Given the description of an element on the screen output the (x, y) to click on. 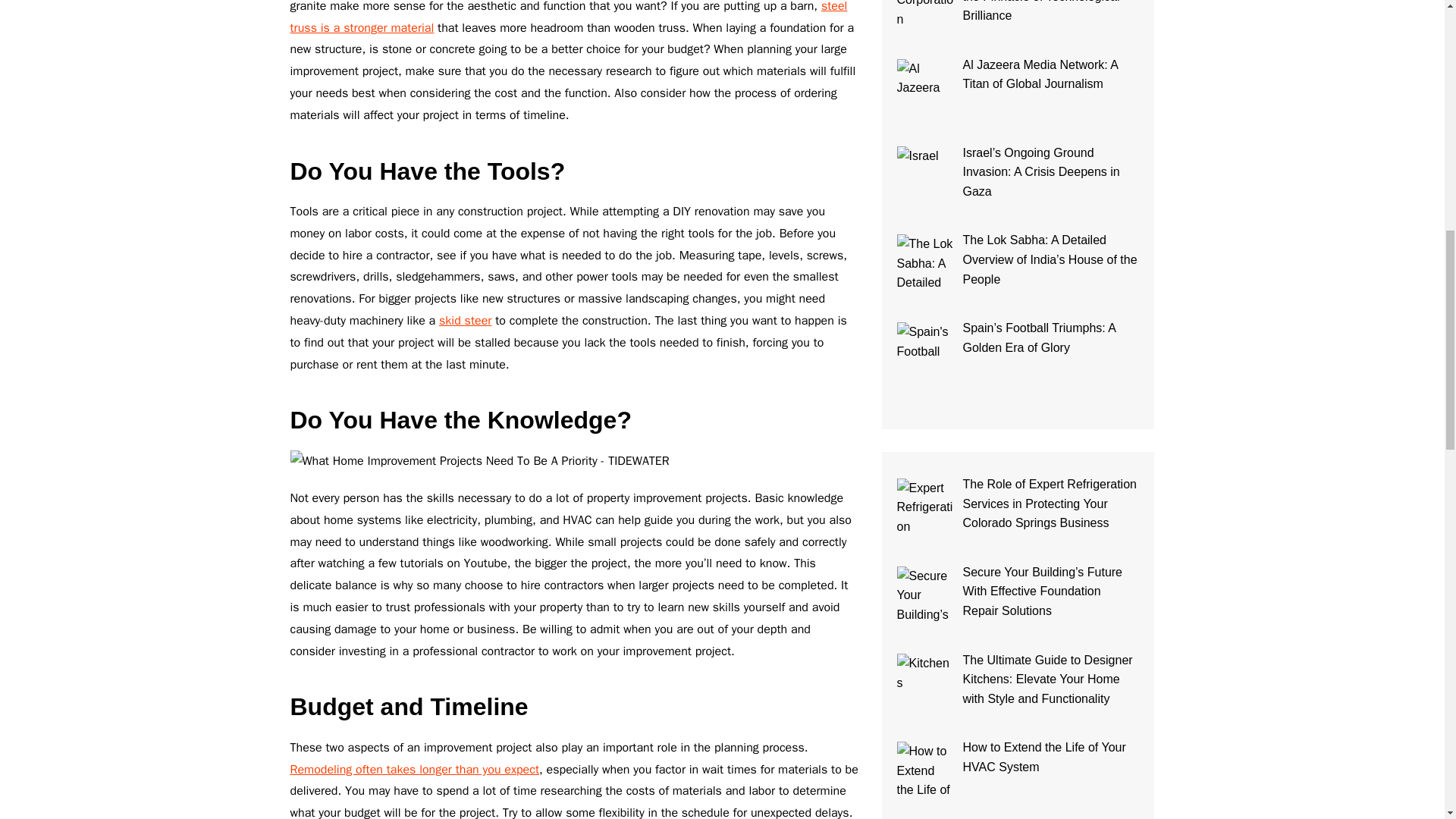
steel truss is a stronger material (568, 18)
Remodeling often takes longer than you expect (413, 769)
skid steer (465, 320)
